Given the description of an element on the screen output the (x, y) to click on. 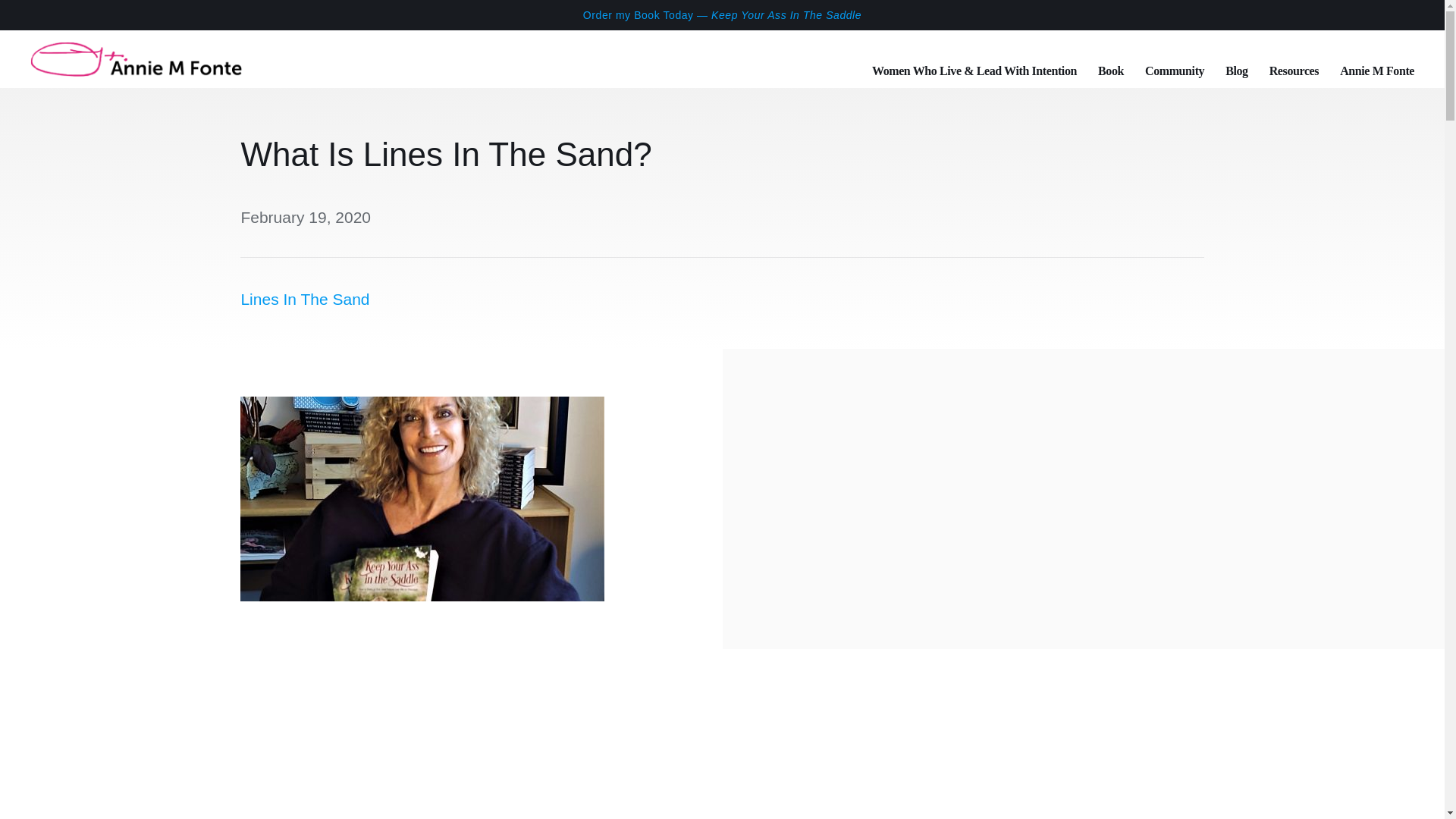
annie with book (422, 498)
Lines In The Sand (304, 298)
Community (1174, 58)
Annie M Fonte (1376, 58)
Resources (1294, 58)
Lines In The Sand (304, 298)
